Given the description of an element on the screen output the (x, y) to click on. 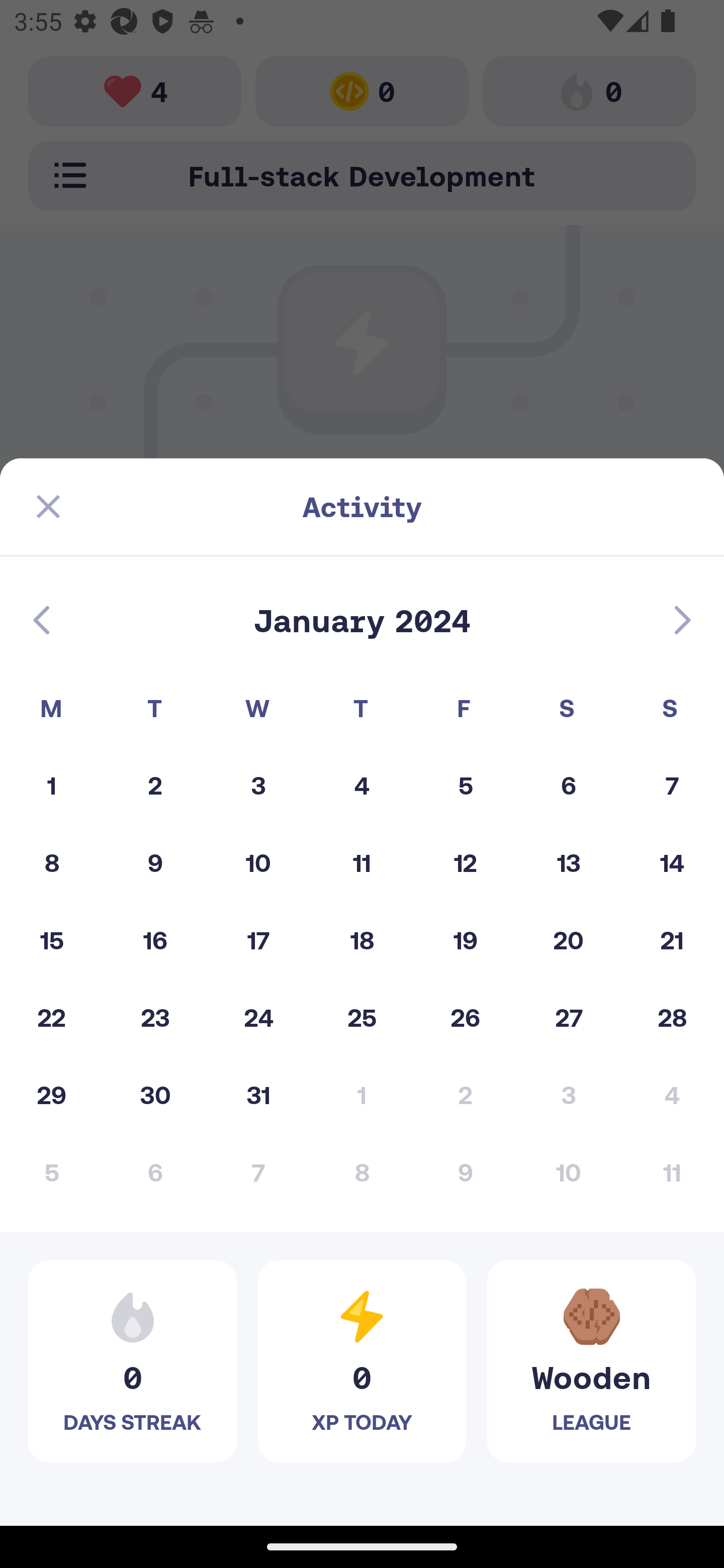
Close (47, 506)
